Given the description of an element on the screen output the (x, y) to click on. 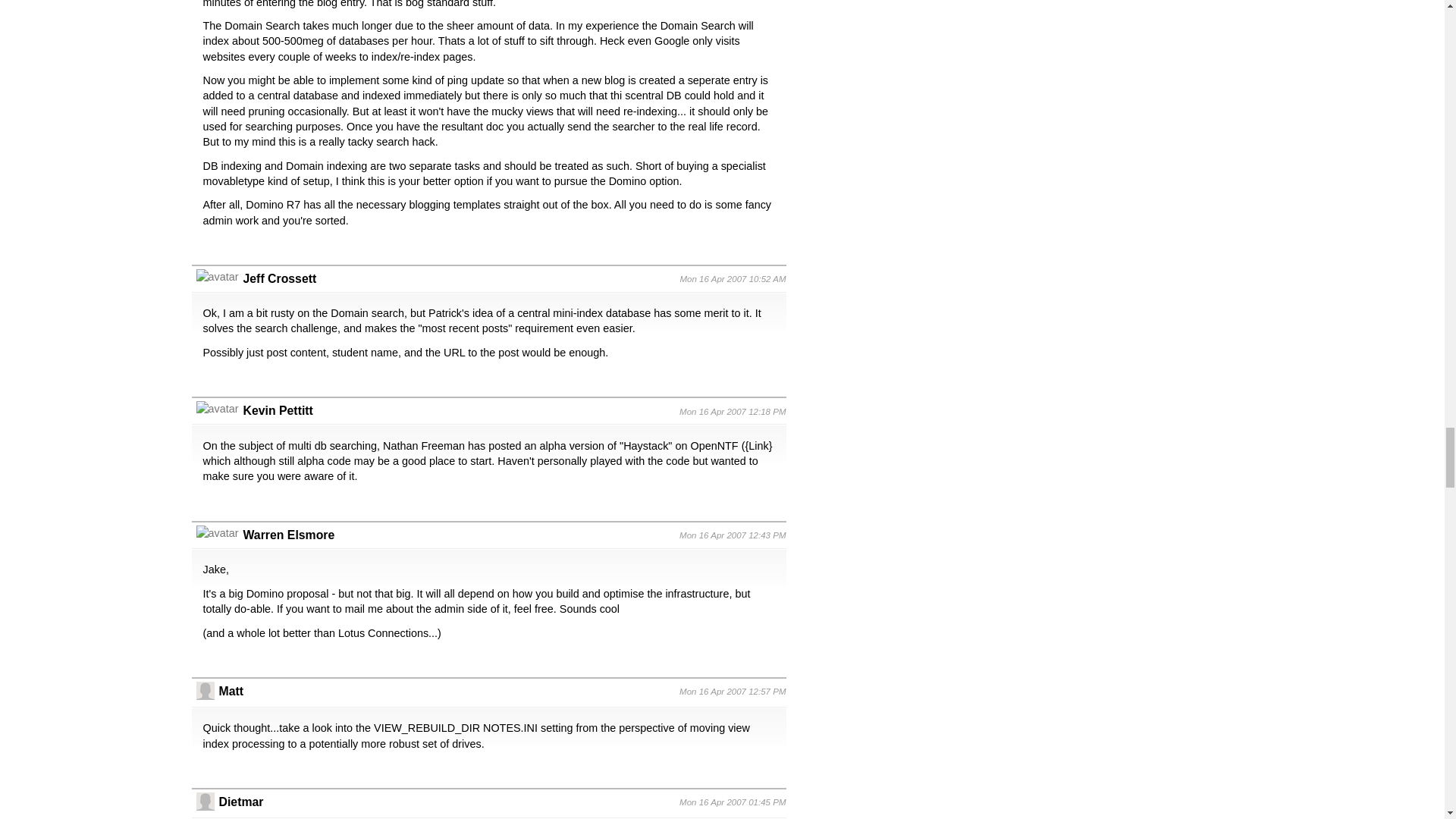
Kevin Pettitt (278, 410)
Link (758, 445)
Warren Elsmore (288, 533)
Jeff Crossett (279, 278)
